Given the description of an element on the screen output the (x, y) to click on. 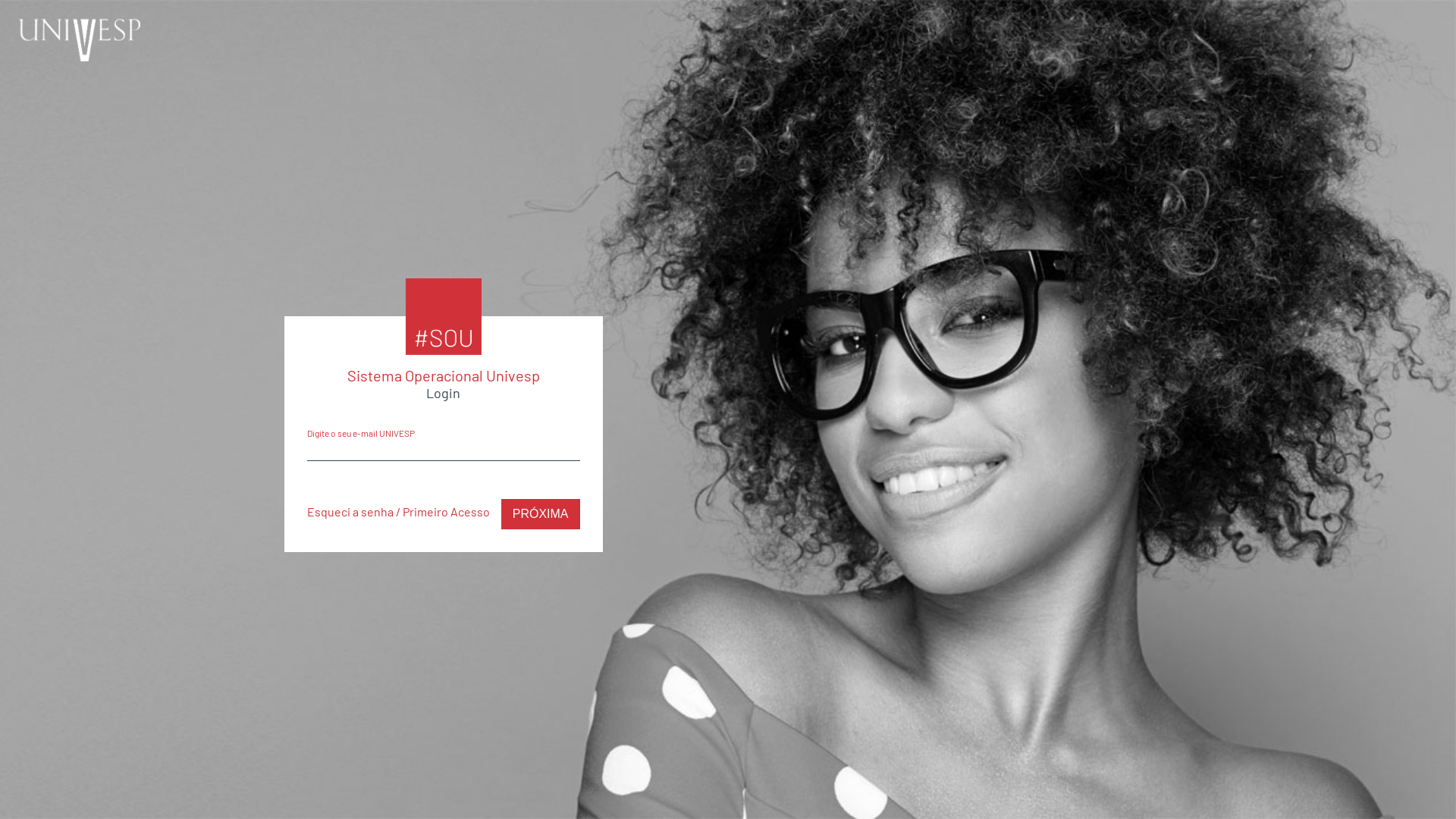
Esqueci a senha / Primeiro Acesso Element type: text (397, 511)
